Given the description of an element on the screen output the (x, y) to click on. 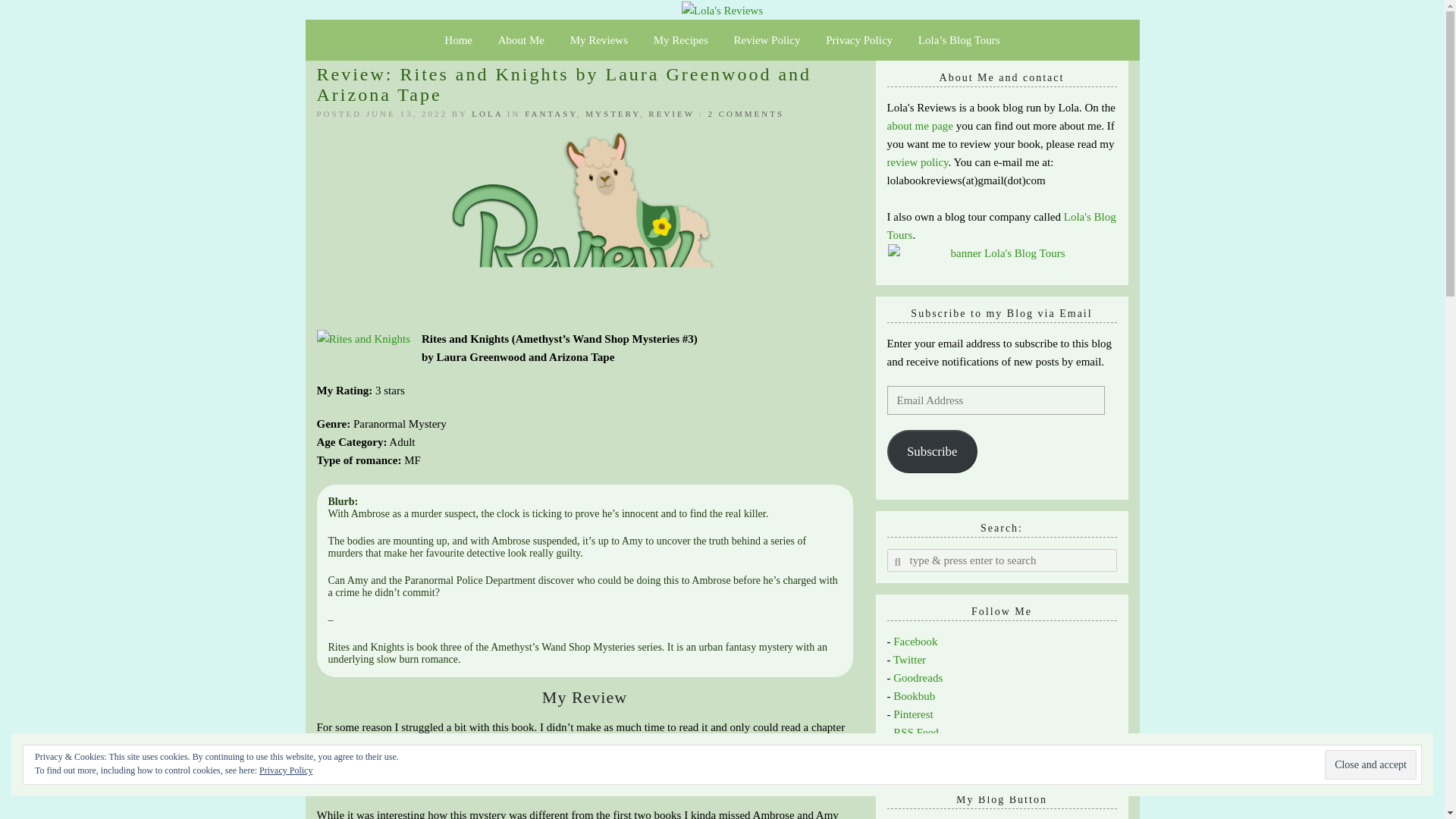
My Recipes (680, 39)
View all posts in Fantasy (550, 112)
View all posts in Mystery (612, 112)
About Me (521, 39)
find me on Goodreads (917, 677)
My Reviews (599, 39)
2 COMMENTS (745, 112)
Home (457, 39)
Follow me on Twitter (909, 659)
FANTASY (550, 112)
